Given the description of an element on the screen output the (x, y) to click on. 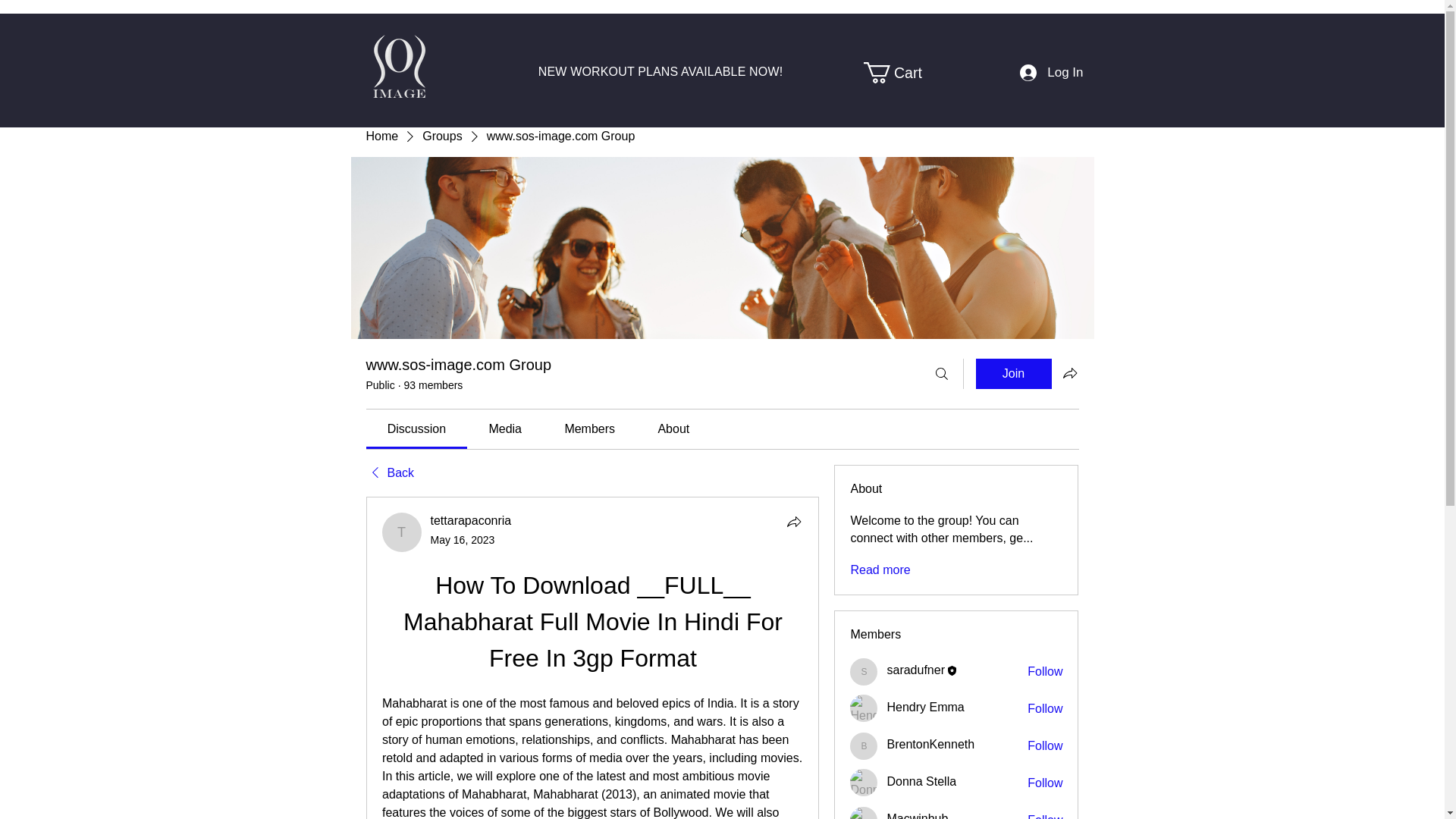
Groups (441, 135)
saradufner (915, 669)
Follow (1044, 671)
saradufner (863, 671)
Follow (1044, 815)
Follow (1044, 782)
Cart (902, 72)
Log In (1051, 72)
Cart (902, 72)
Follow (1044, 709)
Home (381, 135)
tettarapaconria (471, 520)
Back (389, 473)
Join (1013, 373)
May 16, 2023 (462, 539)
